Given the description of an element on the screen output the (x, y) to click on. 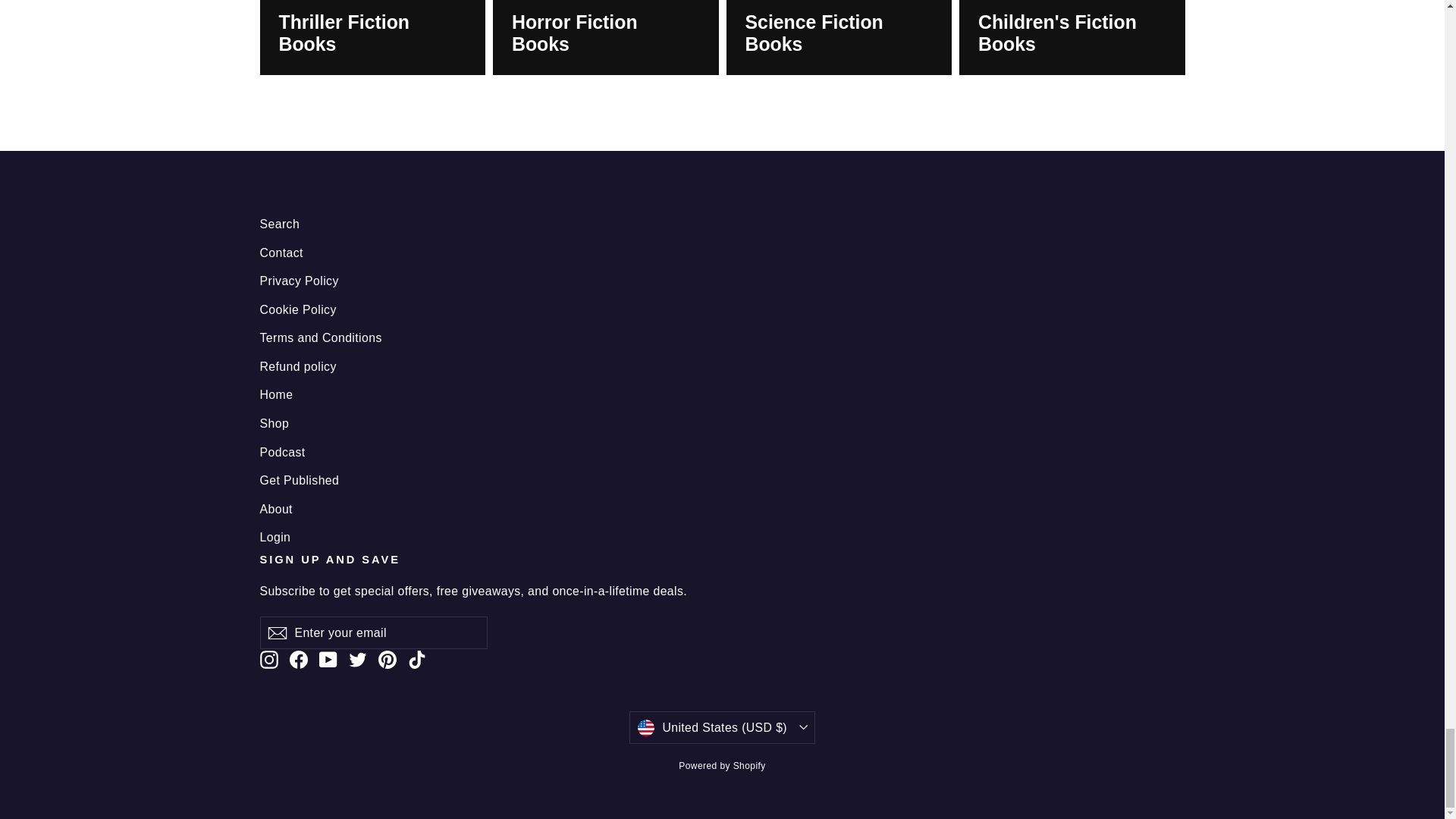
Hangar1publishing on TikTok (416, 659)
Hangar1publishing on YouTube (327, 659)
instagram (268, 659)
twitter (357, 659)
icon-email (276, 633)
Hangar1publishing on Twitter (357, 659)
Hangar1publishing on Facebook (298, 659)
